Given the description of an element on the screen output the (x, y) to click on. 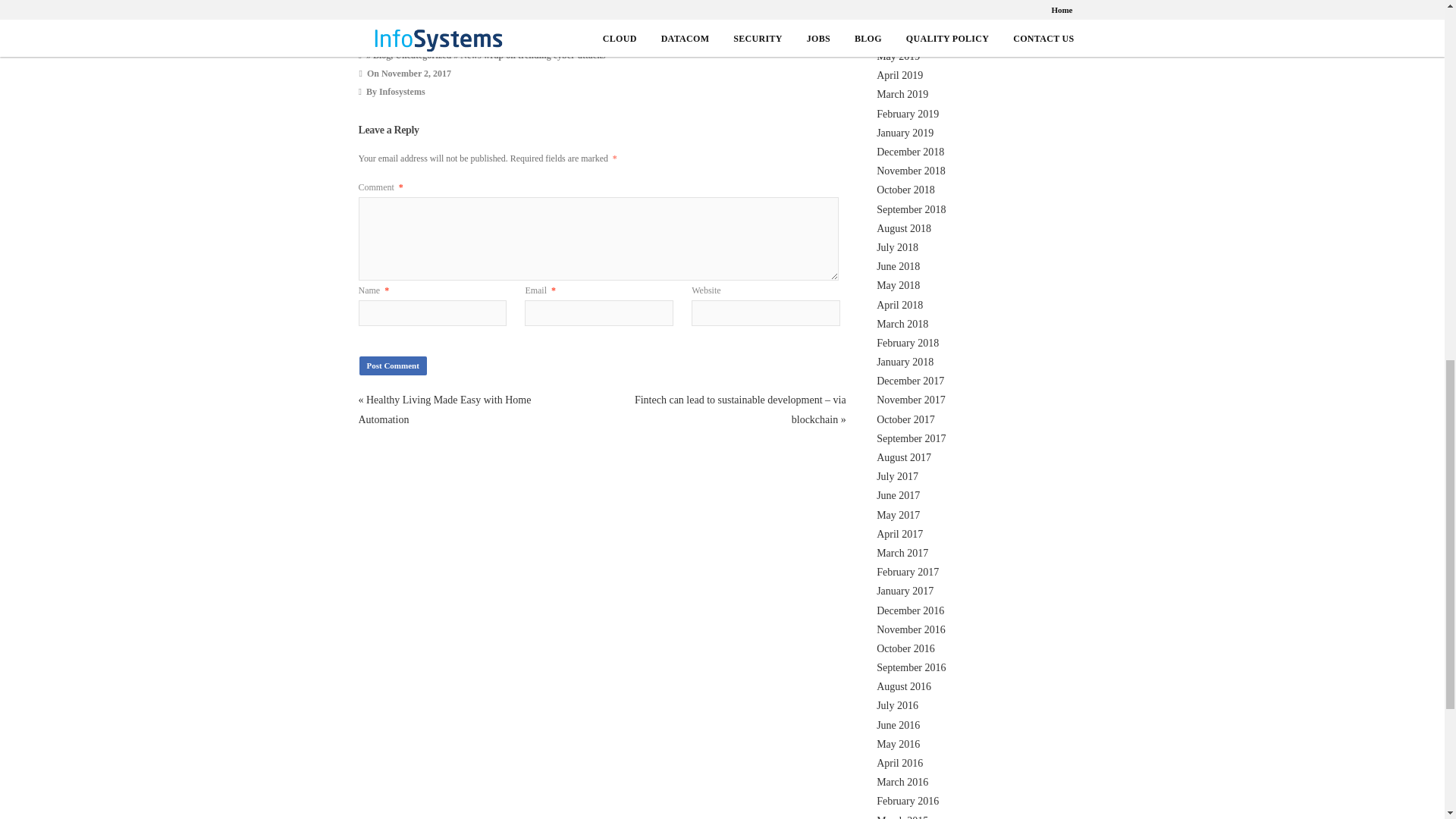
Uncategorized (422, 54)
Healthy Living Made Easy with Home Automation (444, 409)
Posts by Infosystems (401, 91)
Post Comment (392, 365)
Post Comment (392, 365)
Infosystems (401, 91)
Blog (381, 54)
